Given the description of an element on the screen output the (x, y) to click on. 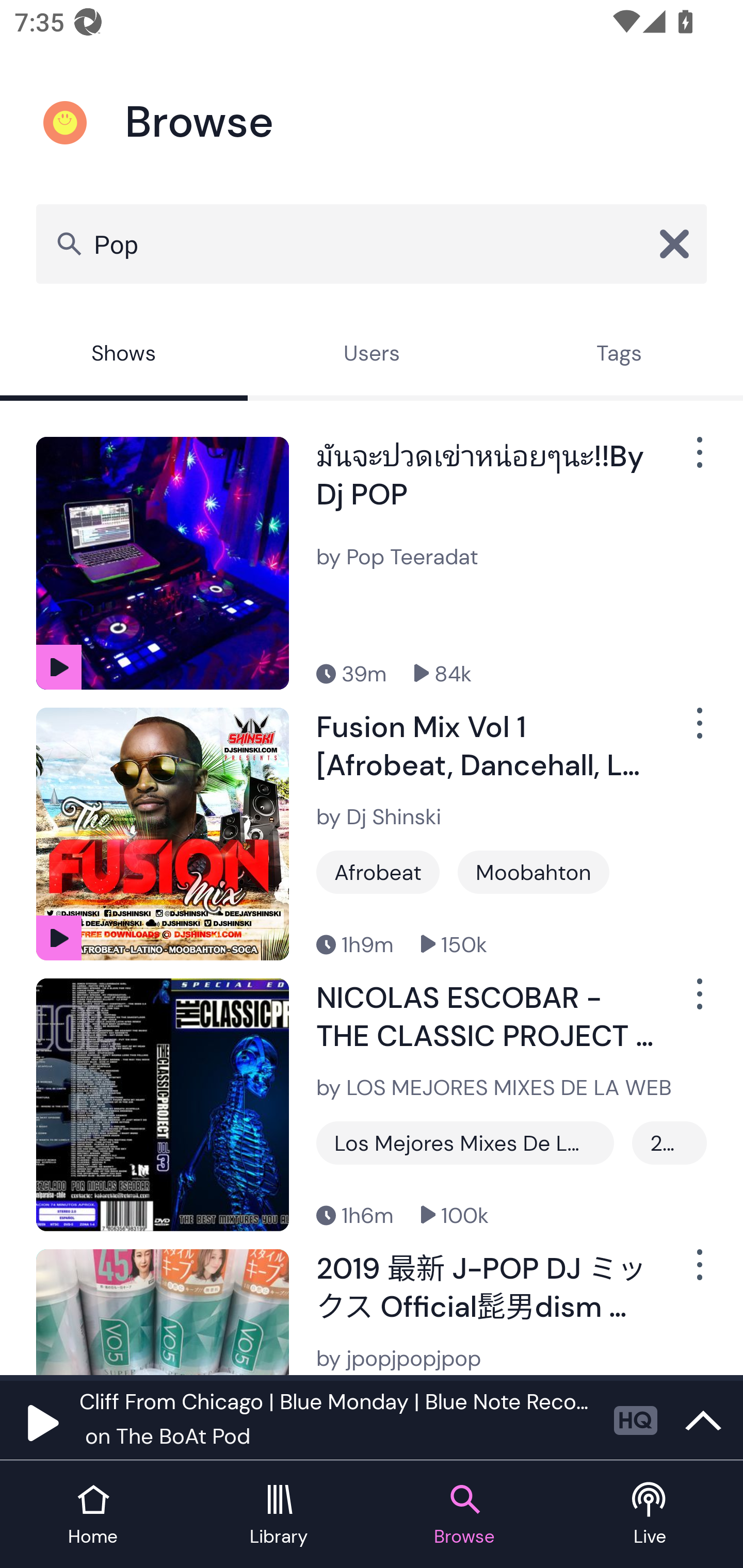
Pop (371, 243)
Shows (123, 355)
Users (371, 355)
Tags (619, 355)
Show Options Menu Button (697, 460)
Show Options Menu Button (697, 730)
Afrobeat (377, 871)
Moobahton (533, 871)
Show Options Menu Button (697, 1001)
Los Mejores Mixes De La Web (464, 1143)
2015 (669, 1143)
Show Options Menu Button (697, 1272)
Home tab Home (92, 1515)
Library tab Library (278, 1515)
Browse tab Browse (464, 1515)
Live tab Live (650, 1515)
